Given the description of an element on the screen output the (x, y) to click on. 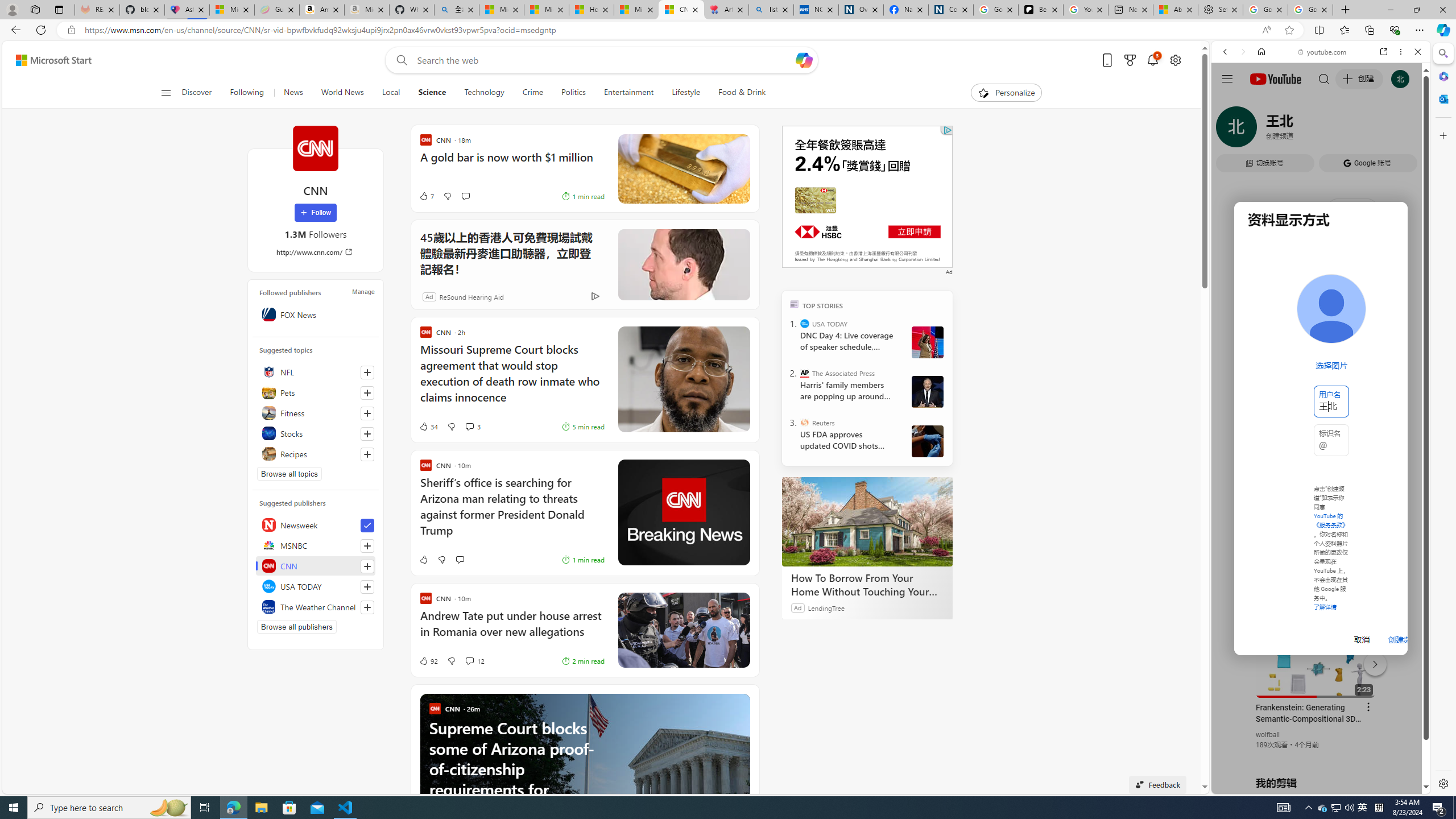
92 Like (427, 661)
Google (1266, 331)
